Given the description of an element on the screen output the (x, y) to click on. 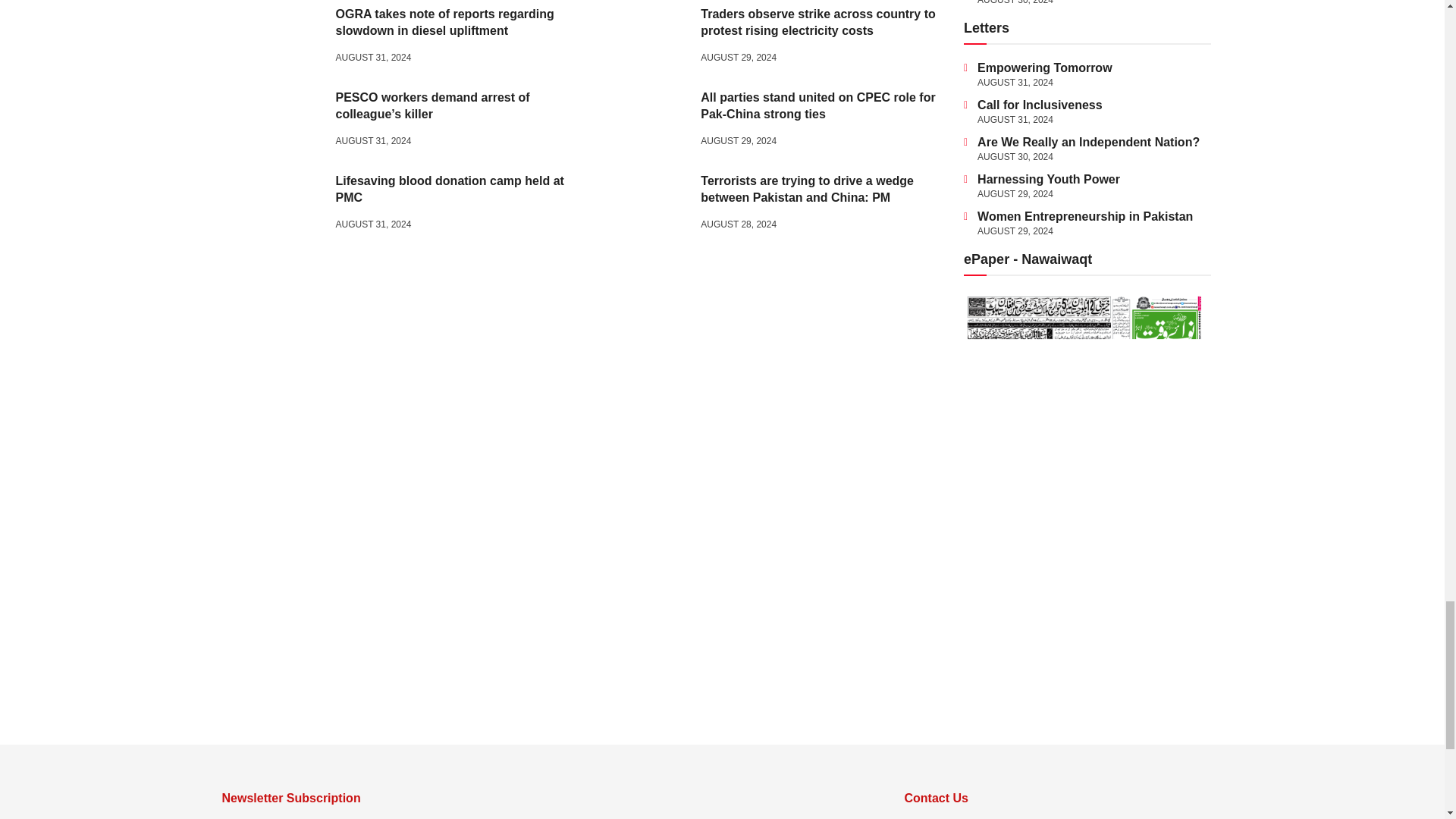
Lifesaving blood donation camp held at PMC (278, 204)
